Given the description of an element on the screen output the (x, y) to click on. 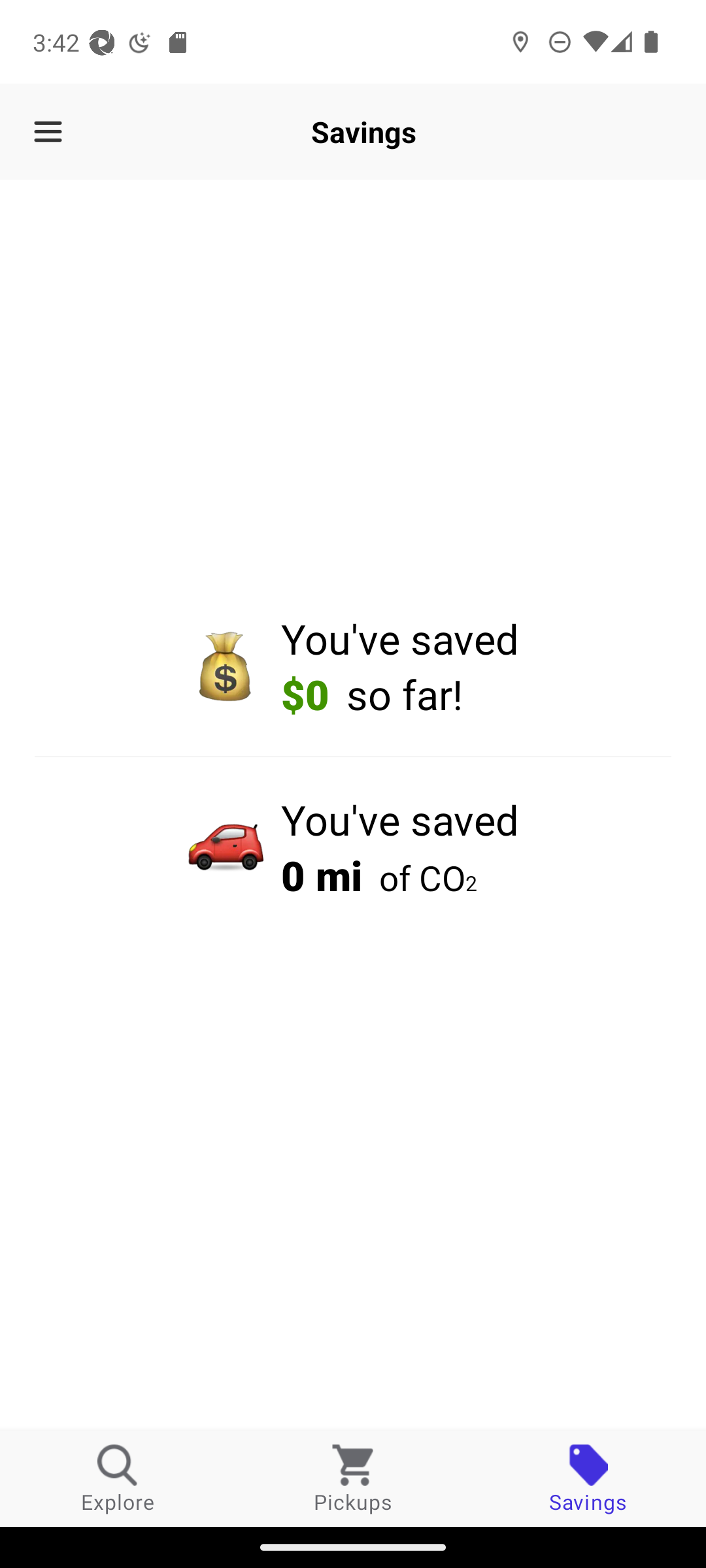
Navigate up (48, 131)
Explore (117, 1478)
Pickups (352, 1478)
